Given the description of an element on the screen output the (x, y) to click on. 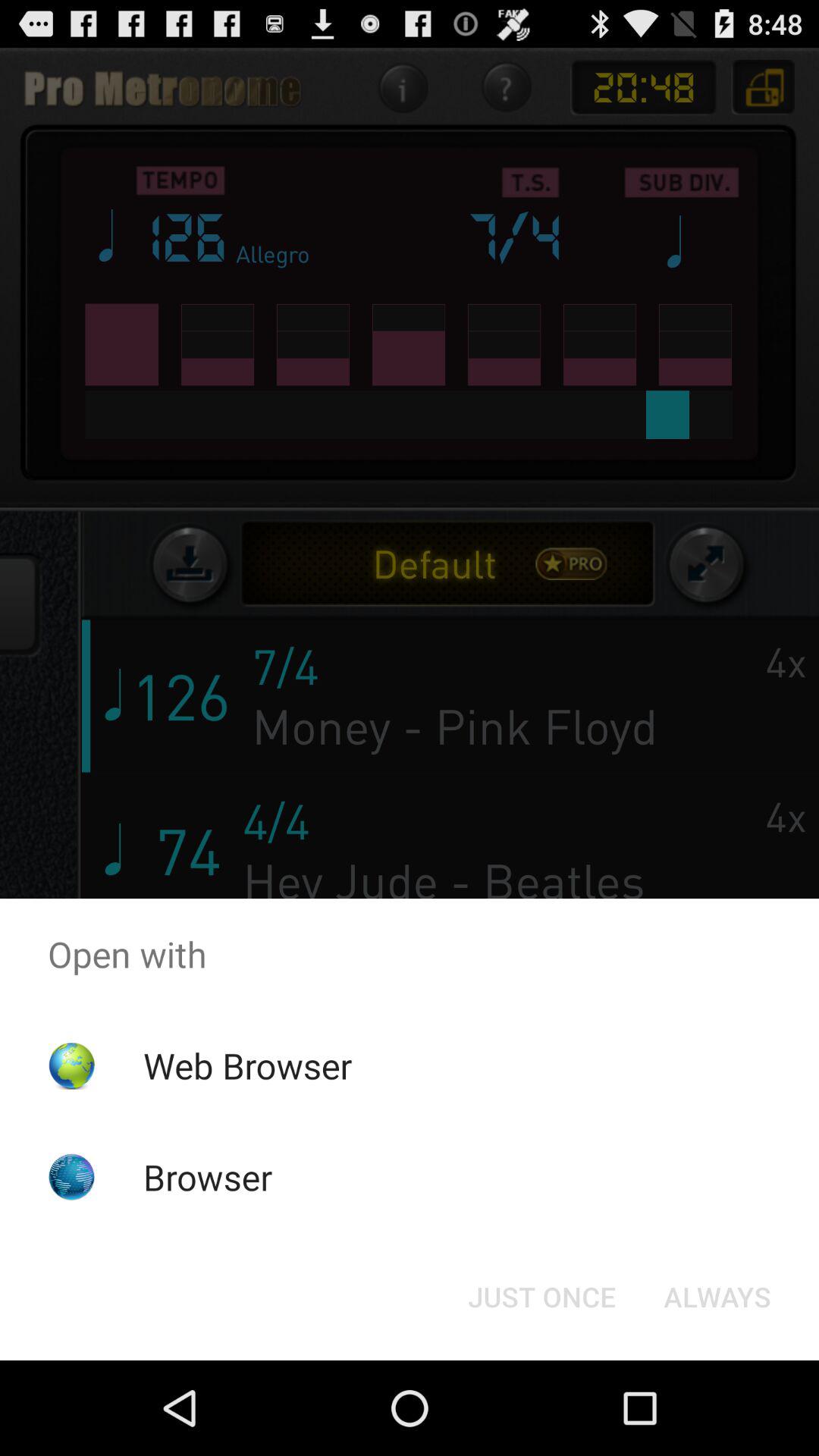
select app above the browser app (247, 1065)
